Given the description of an element on the screen output the (x, y) to click on. 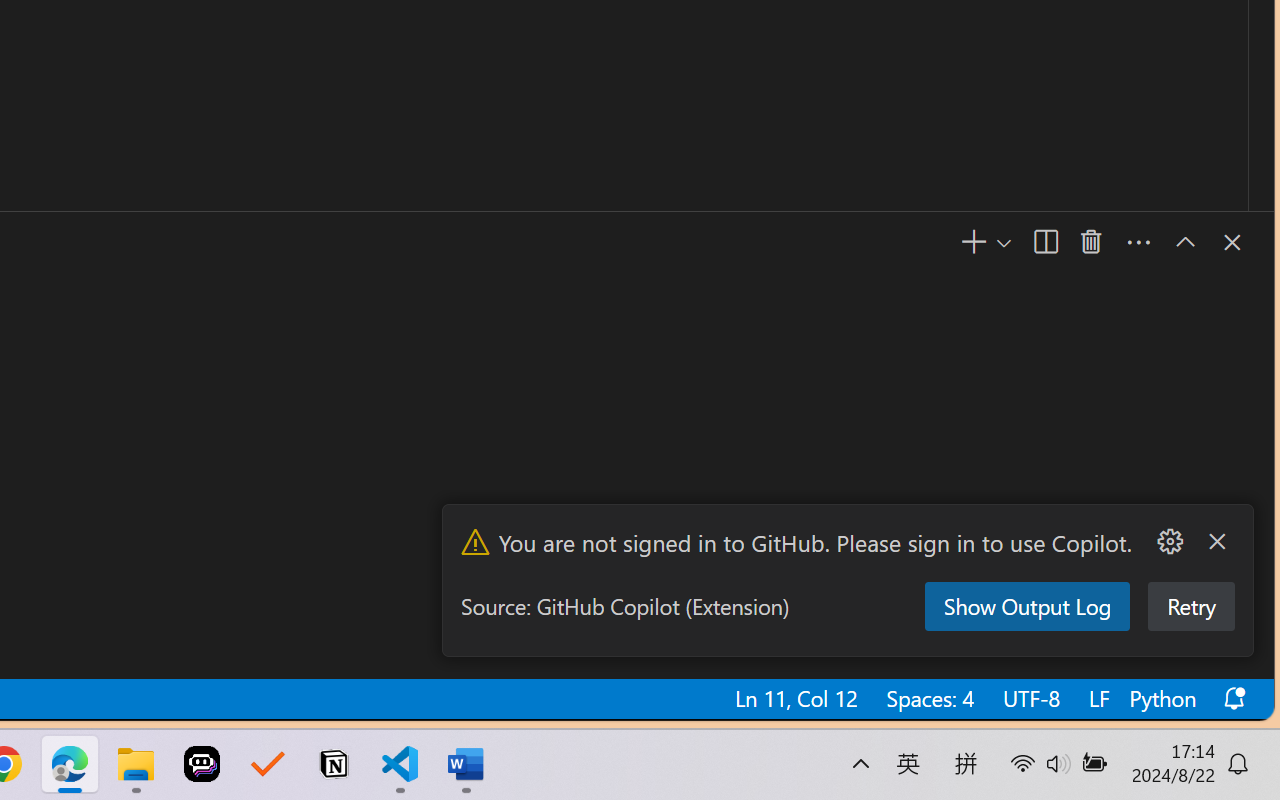
Close Panel (1230, 242)
Ln 11, Col 12 (795, 698)
Show Output Log (1025, 606)
Maximize Panel Size (1183, 242)
Class: actions-container (1211, 242)
More Actions... (1169, 542)
UTF-8 (1029, 698)
Spaces: 4 (929, 698)
